Given the description of an element on the screen output the (x, y) to click on. 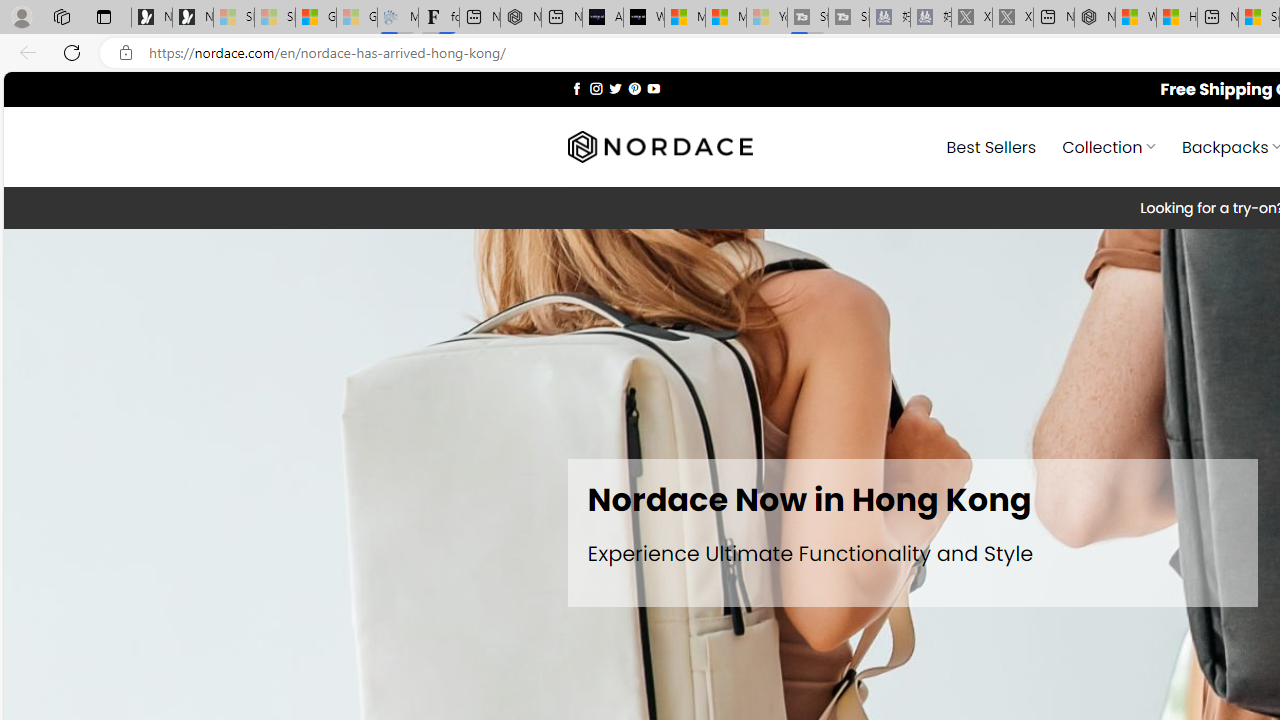
Streaming Coverage | T3 - Sleeping (808, 17)
 Best Sellers (990, 146)
